Given the description of an element on the screen output the (x, y) to click on. 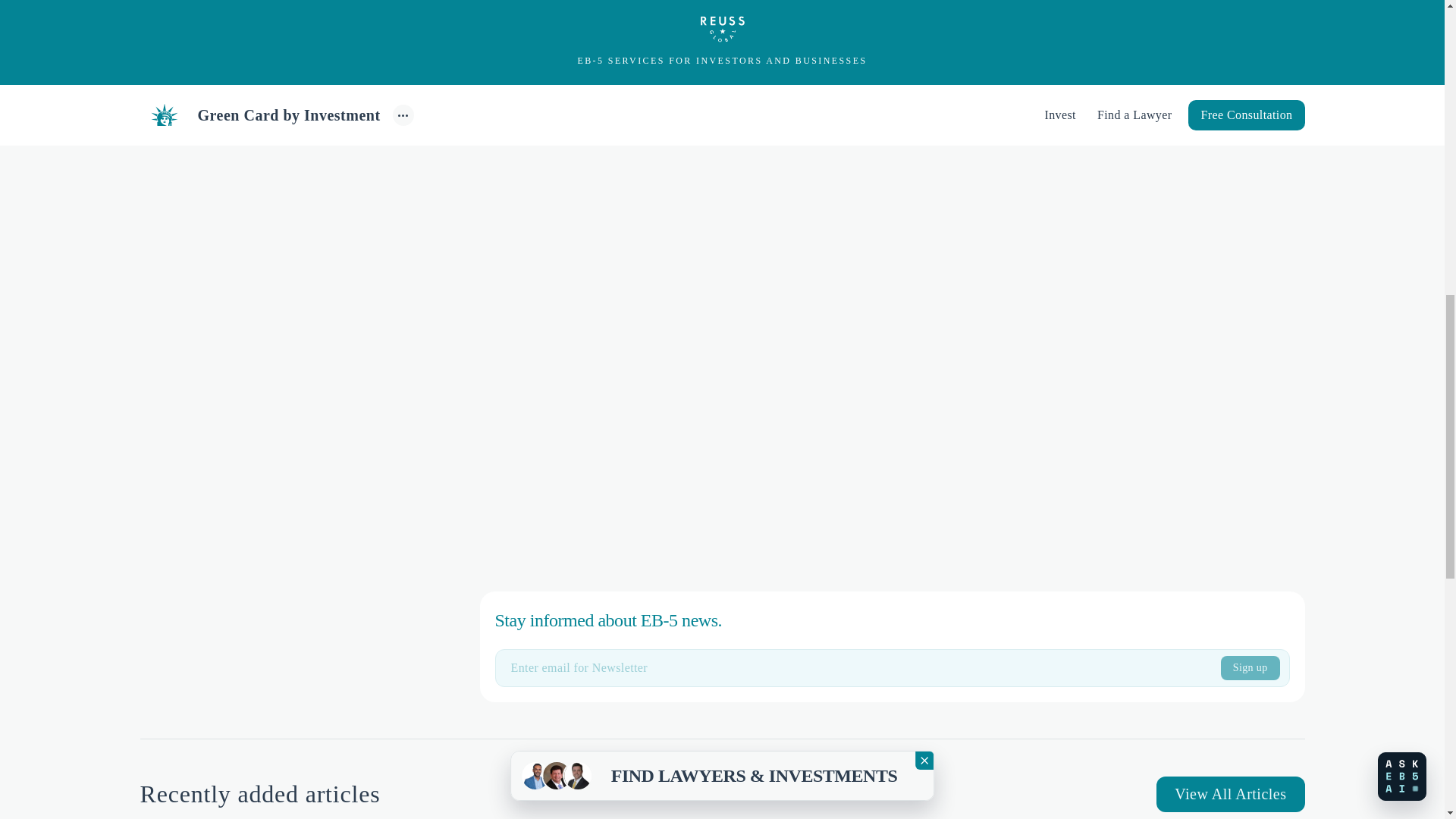
Find an Investment (360, 114)
Find a Lawyer (880, 39)
